Given the description of an element on the screen output the (x, y) to click on. 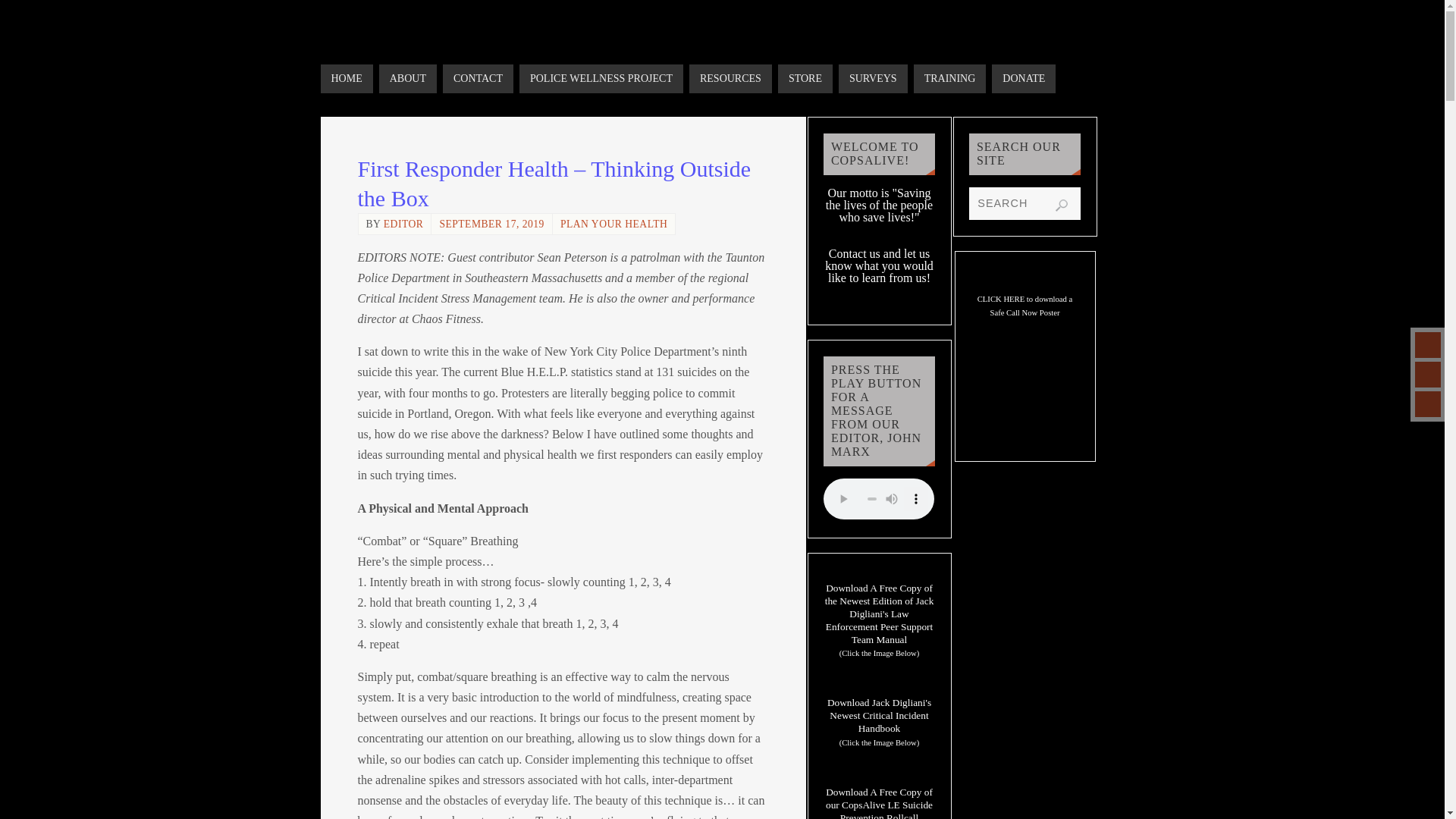
View all posts by Editor (403, 224)
RESOURCES (729, 78)
YouTube (1428, 344)
SURVEYS (872, 78)
EDITOR (403, 224)
Twitter (1428, 374)
HOME (346, 78)
POLICE WELLNESS PROJECT (600, 78)
DONATE (1023, 78)
TRAINING (950, 78)
